Given the description of an element on the screen output the (x, y) to click on. 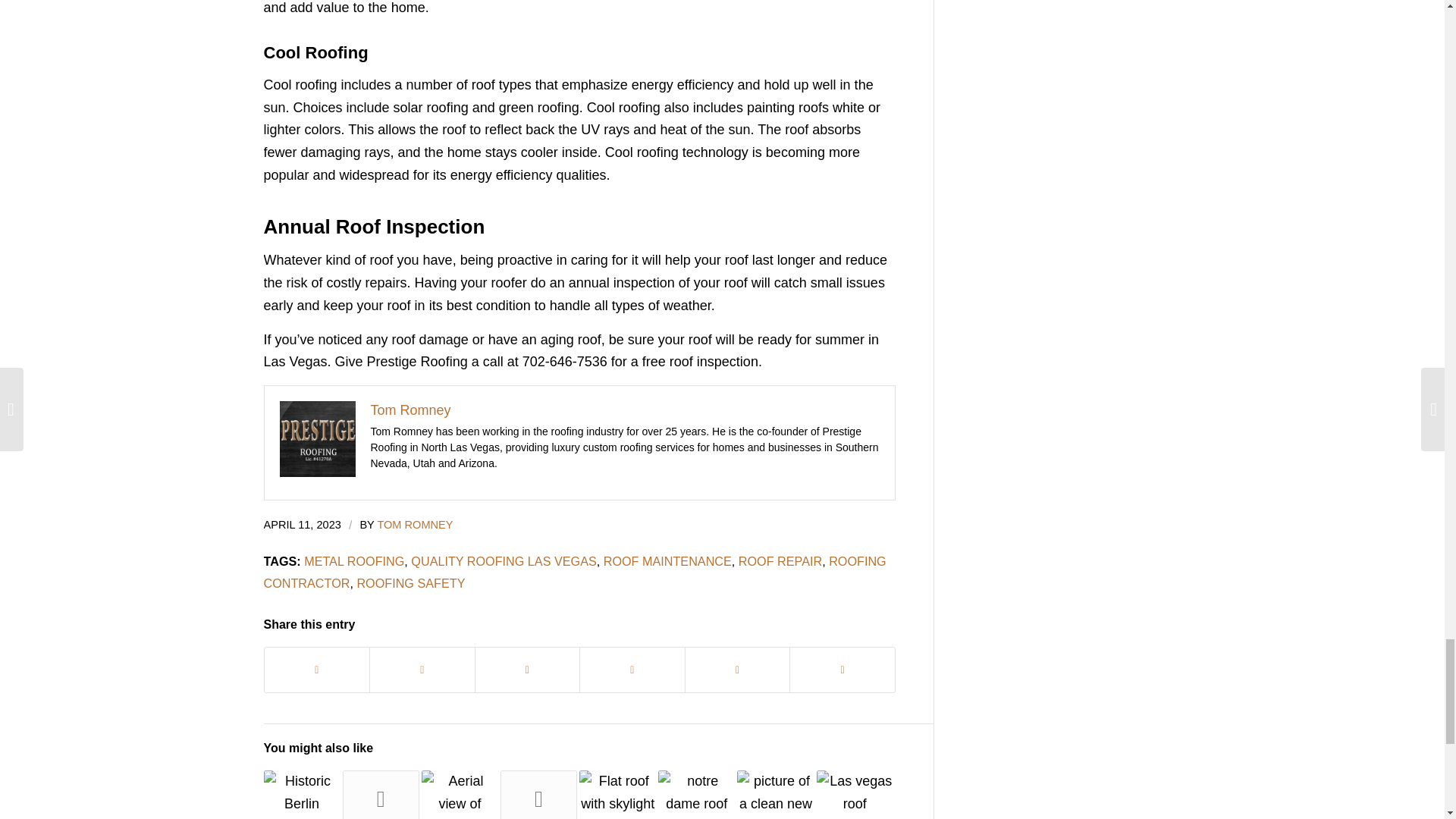
Wind Damage to Your Roof (380, 794)
Famous Copper Domes Around the World (301, 794)
Las Vegas Roofing Companies: Addressing Common Roof Problems (459, 794)
Thermal Shock in the Midst of Summer (538, 794)
Posts by Tom Romney (414, 524)
